Given the description of an element on the screen output the (x, y) to click on. 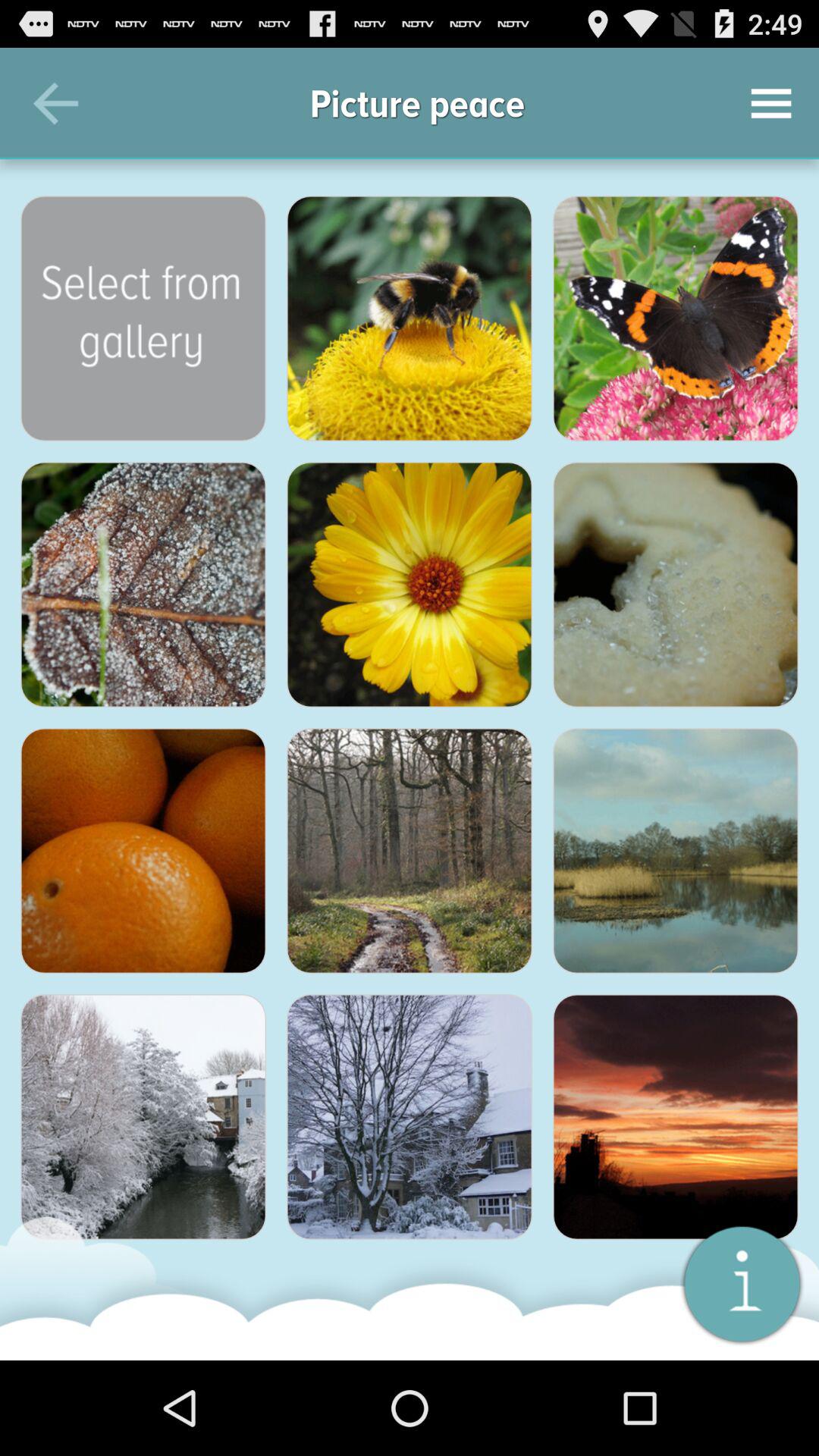
floresta (409, 850)
